Given the description of an element on the screen output the (x, y) to click on. 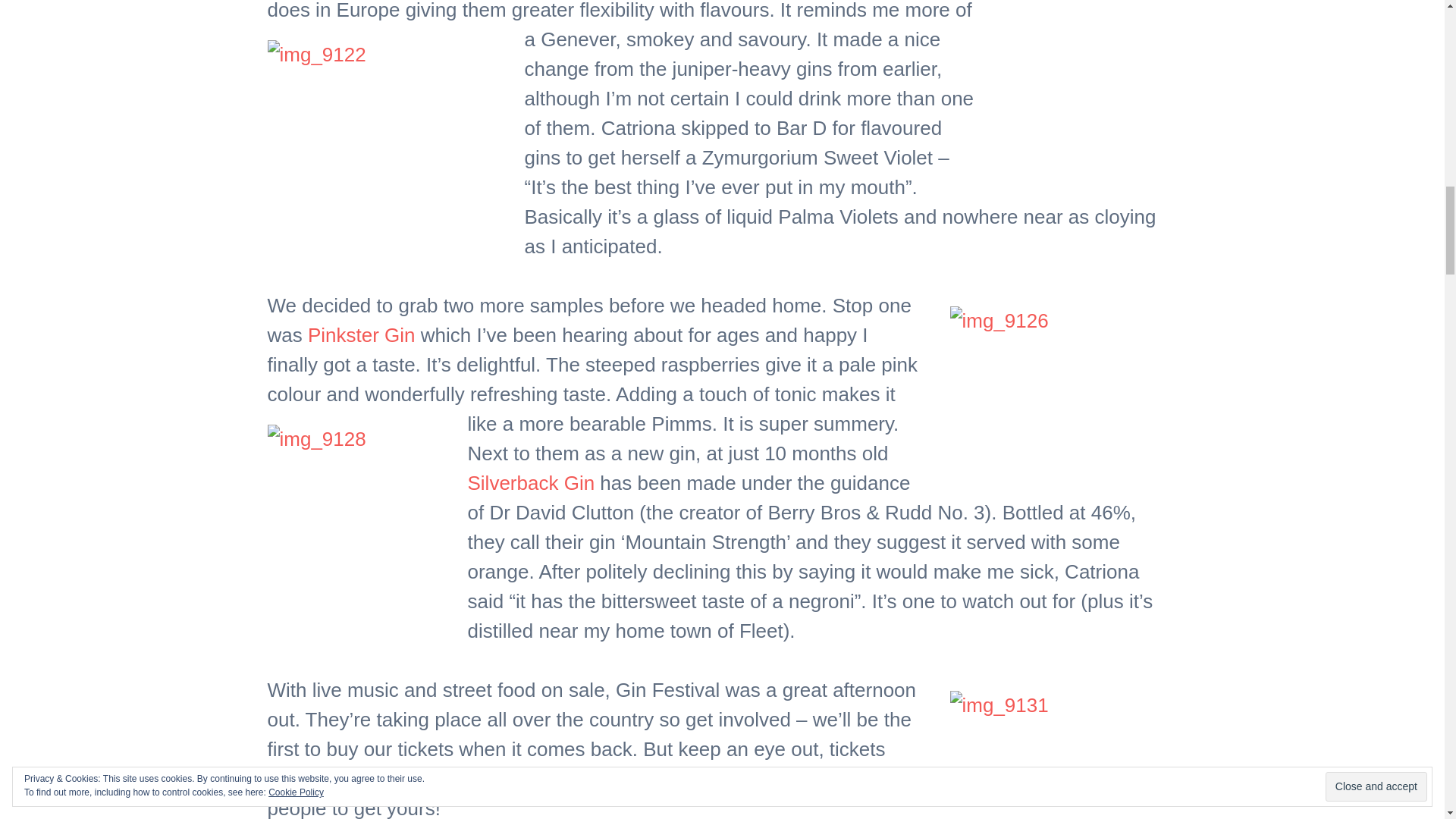
Pinkster Gin (360, 334)
Silverback Gin (530, 482)
